Given the description of an element on the screen output the (x, y) to click on. 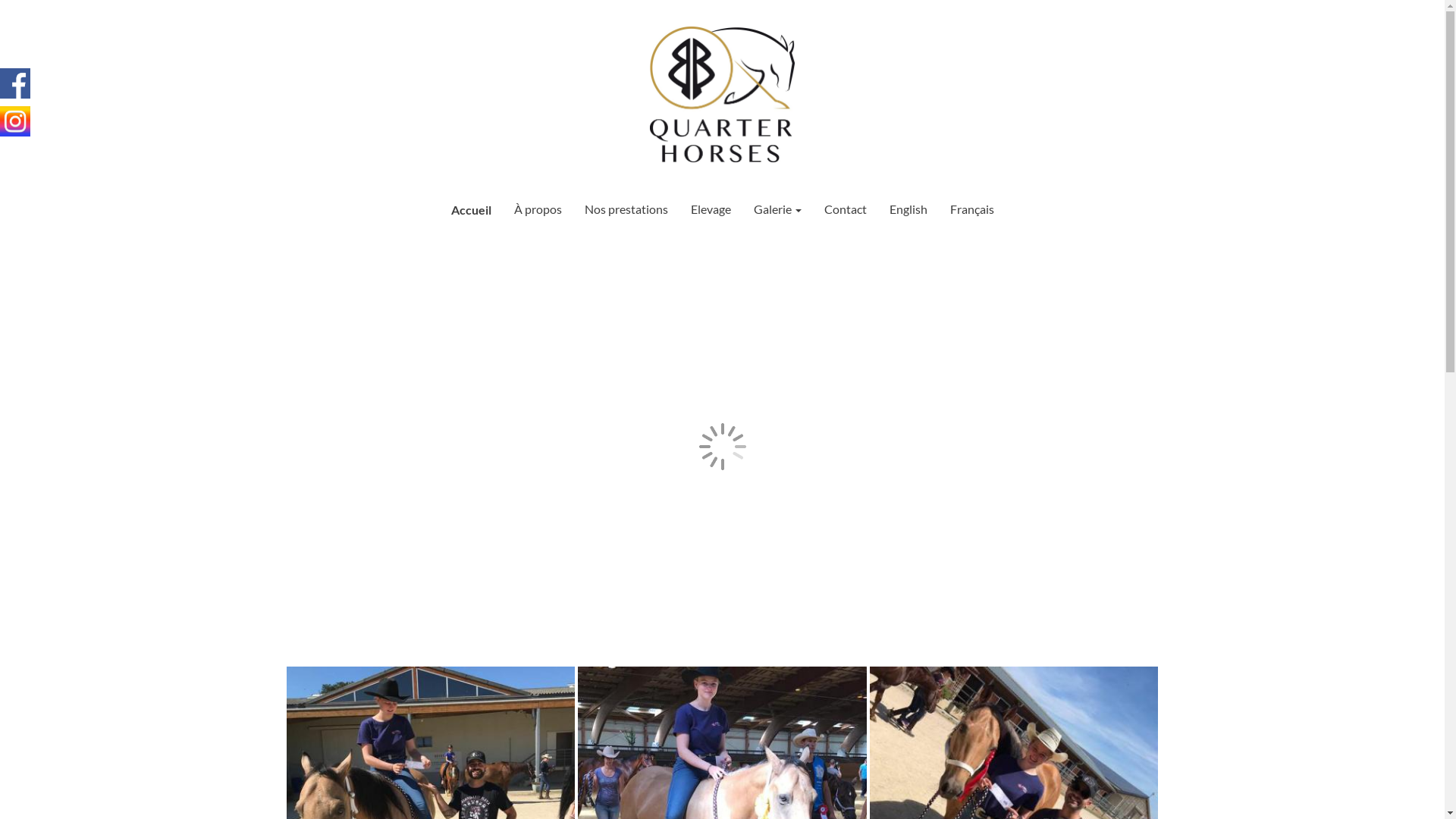
2019 Swiss Slide Element type: hover (1013, 809)
Nos prestations Element type: text (626, 209)
Accueil Element type: text (470, 209)
English Element type: text (908, 209)
Galerie Element type: text (776, 209)
2019 Swiss Derby Element type: hover (430, 809)
2019 Swiss Derby Element type: hover (721, 809)
Contact Element type: text (845, 209)
Elevage Element type: text (710, 209)
